Given the description of an element on the screen output the (x, y) to click on. 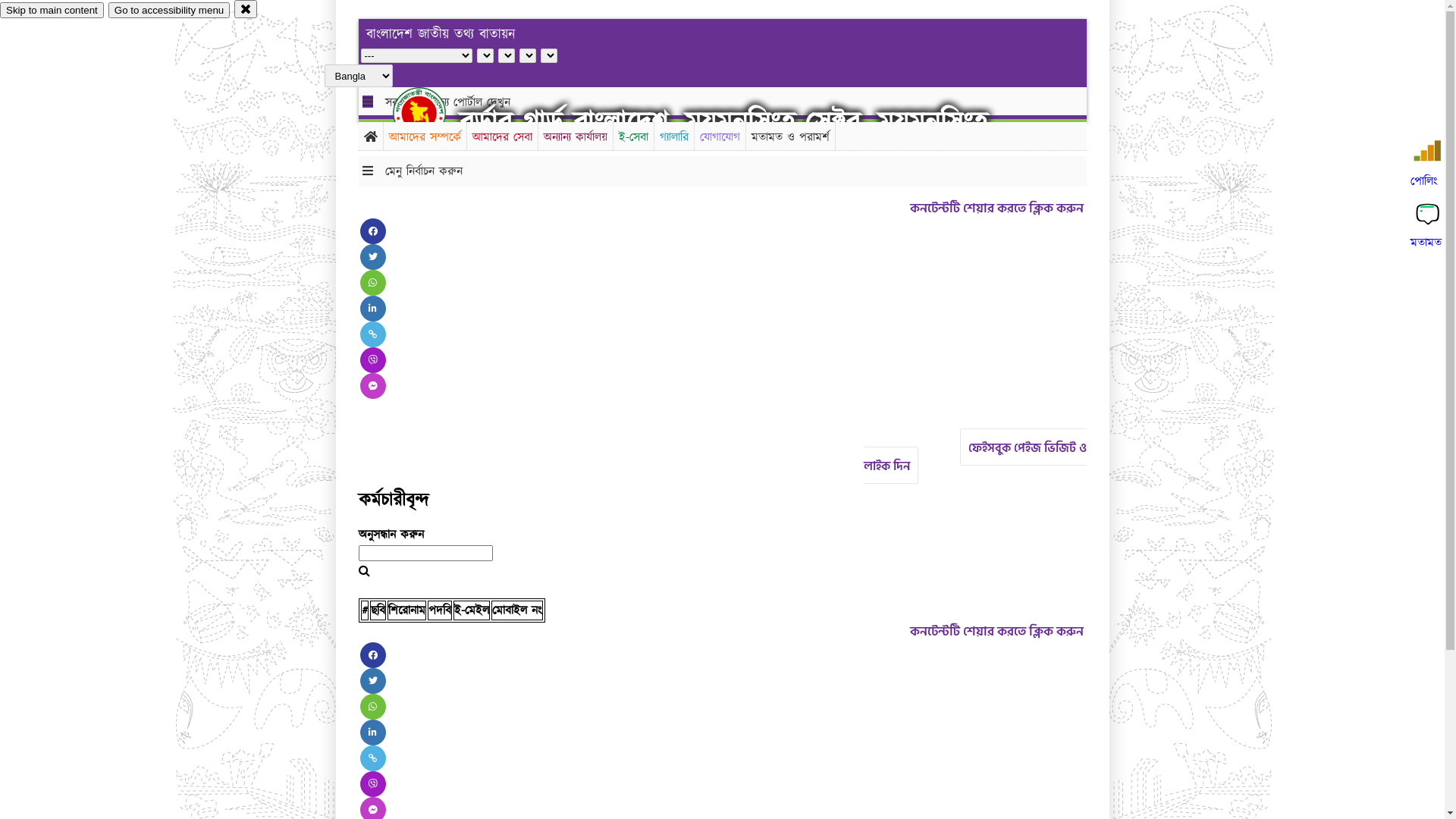
Go to accessibility menu Element type: text (168, 10)
Skip to main content Element type: text (51, 10)
close Element type: hover (245, 9)

                
             Element type: hover (431, 112)
